Given the description of an element on the screen output the (x, y) to click on. 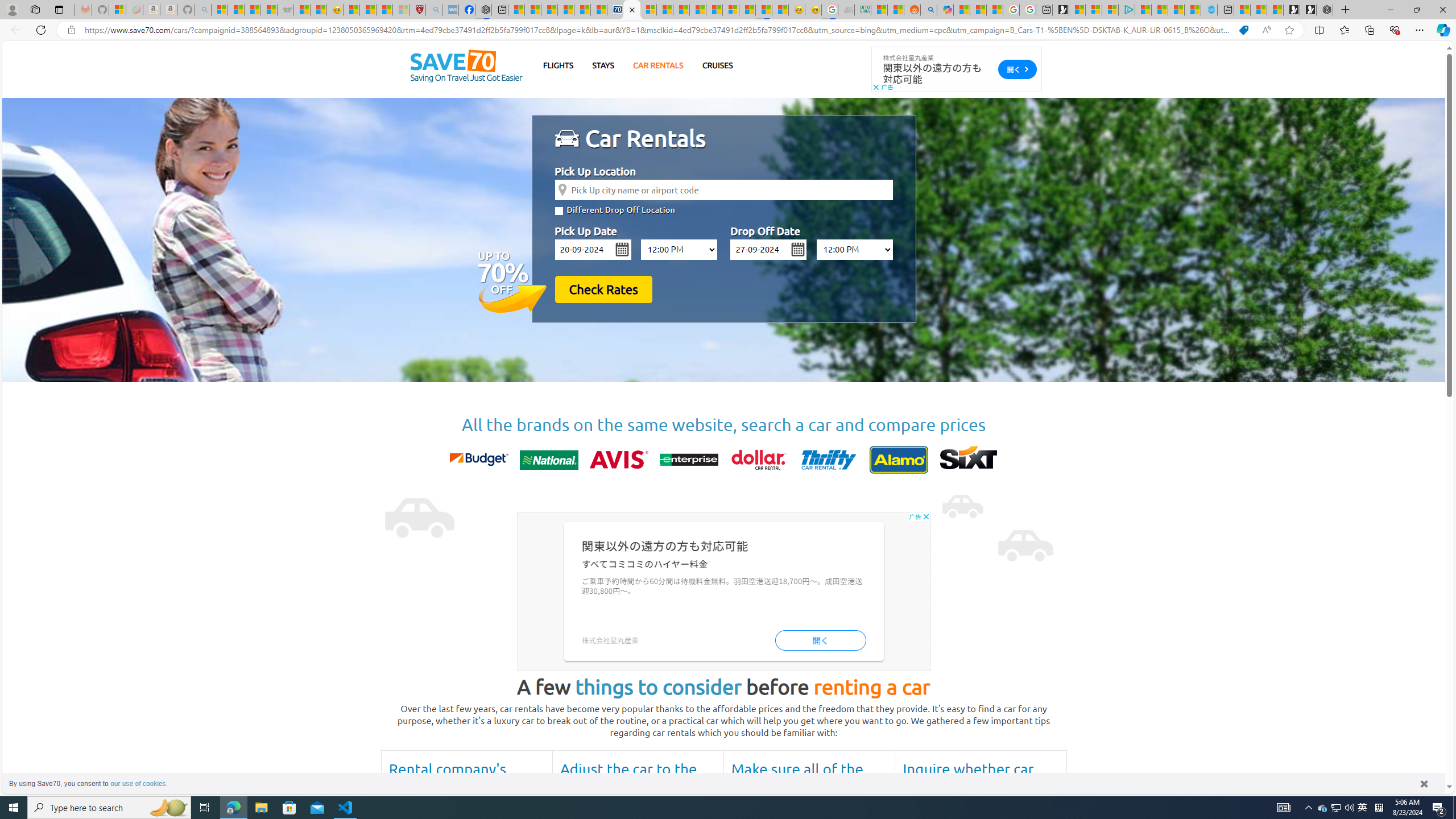
learn more about cookies (138, 783)
alamo (898, 459)
Check Rates (603, 289)
AutomationID: cbb (925, 515)
